Given the description of an element on the screen output the (x, y) to click on. 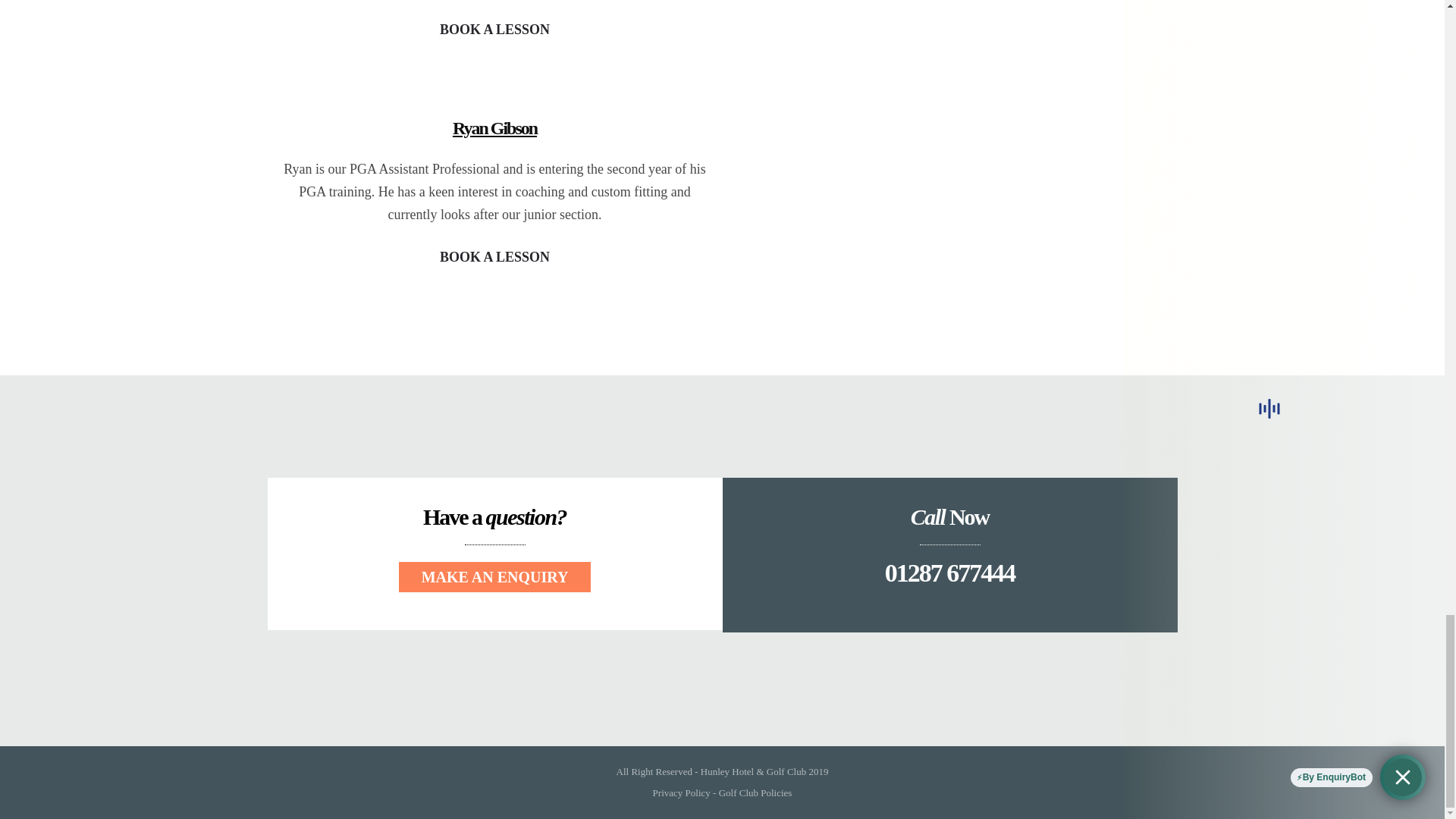
MAKE AN ENQUIRY (494, 576)
Golf Club Policies (755, 792)
BOOK A LESSON (495, 30)
Privacy Policy (681, 792)
BOOK A LESSON (495, 256)
